Given the description of an element on the screen output the (x, y) to click on. 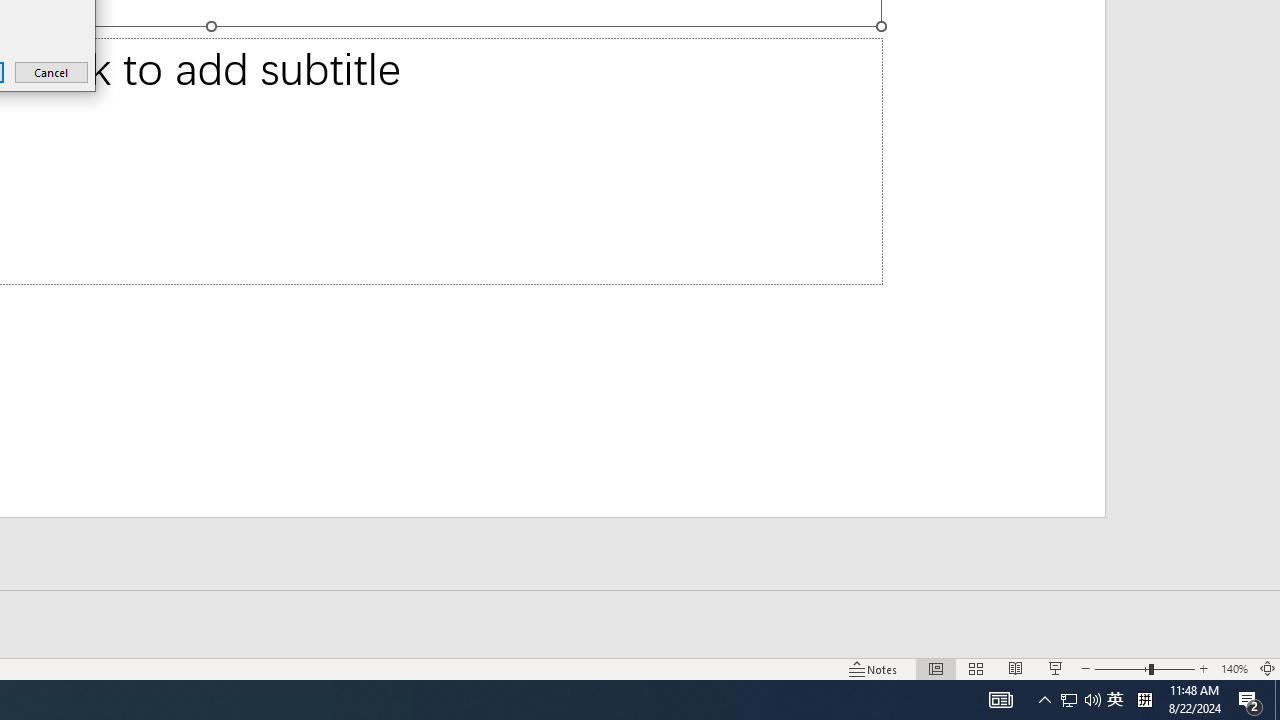
Zoom 140% (1234, 668)
